Given the description of an element on the screen output the (x, y) to click on. 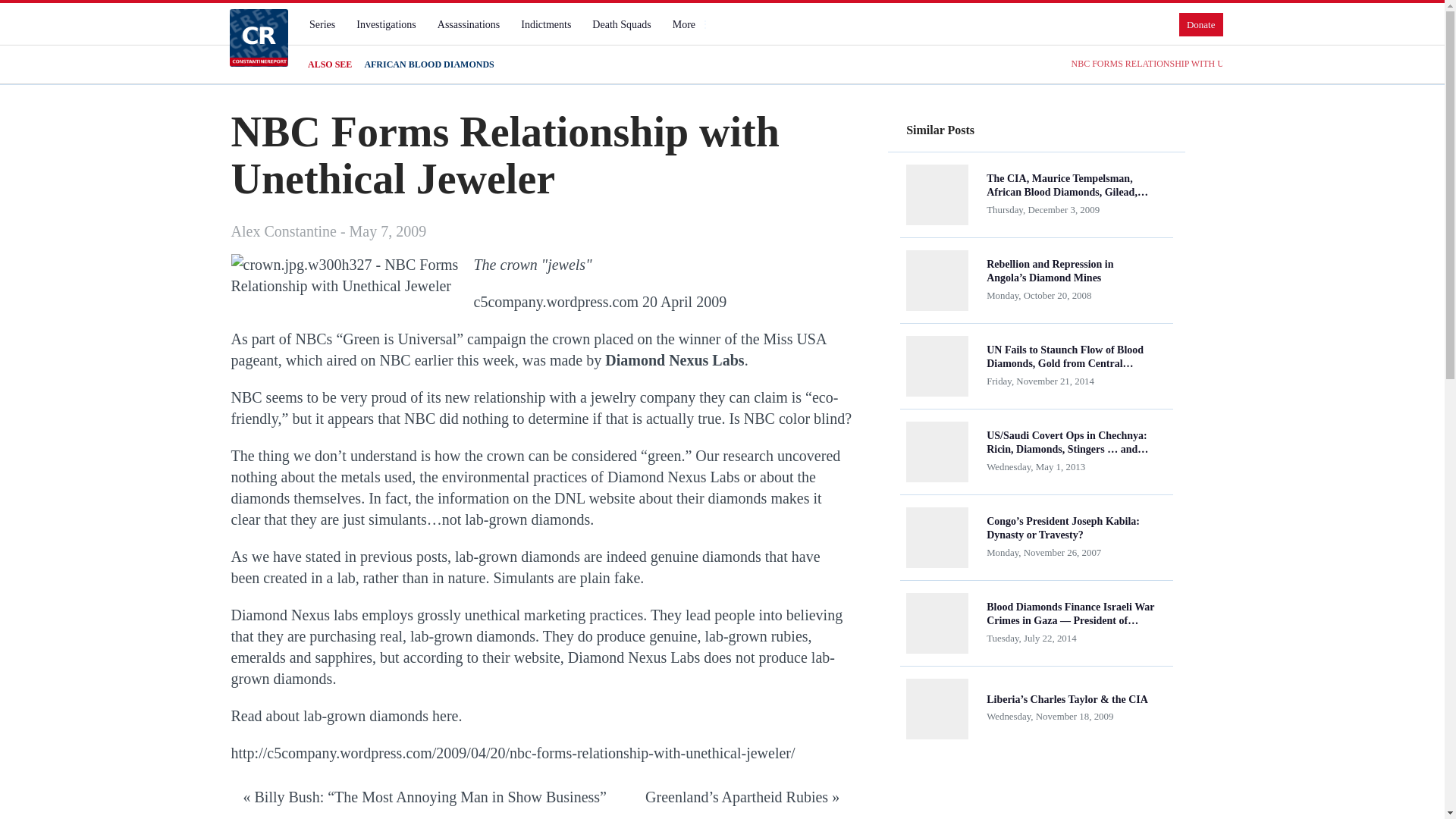
NBC Forms Relationship with Unethical Jeweler (344, 274)
Constantine Report (257, 37)
Assassinations (467, 23)
Indictments (545, 23)
Death Squads (621, 23)
Series (321, 23)
More (690, 24)
AFRICAN BLOOD DIAMONDS (428, 64)
Investigations (386, 23)
Donate (1201, 24)
